Given the description of an element on the screen output the (x, y) to click on. 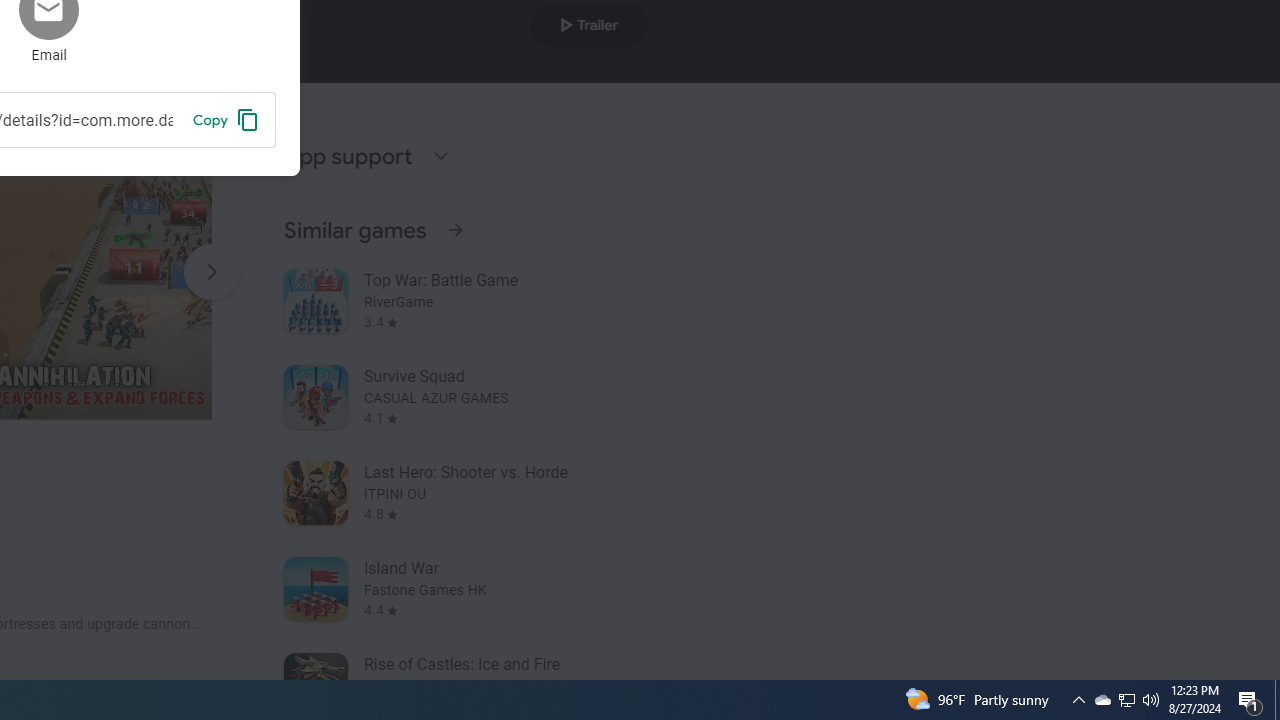
Copy link to clipboard (225, 119)
